Given the description of an element on the screen output the (x, y) to click on. 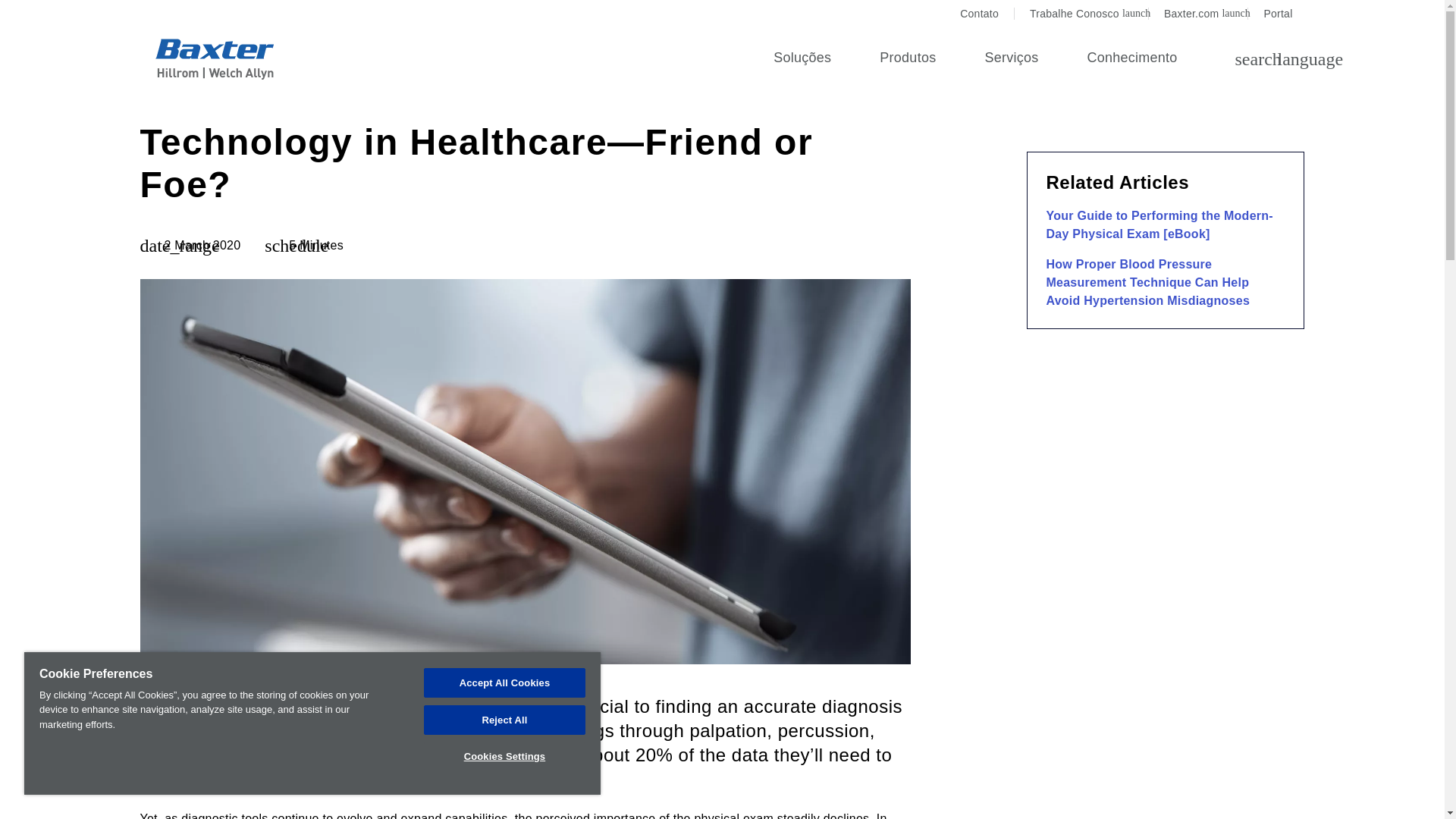
Conhecimento (1131, 59)
Produtos (1198, 13)
Contato (907, 59)
